Given the description of an element on the screen output the (x, y) to click on. 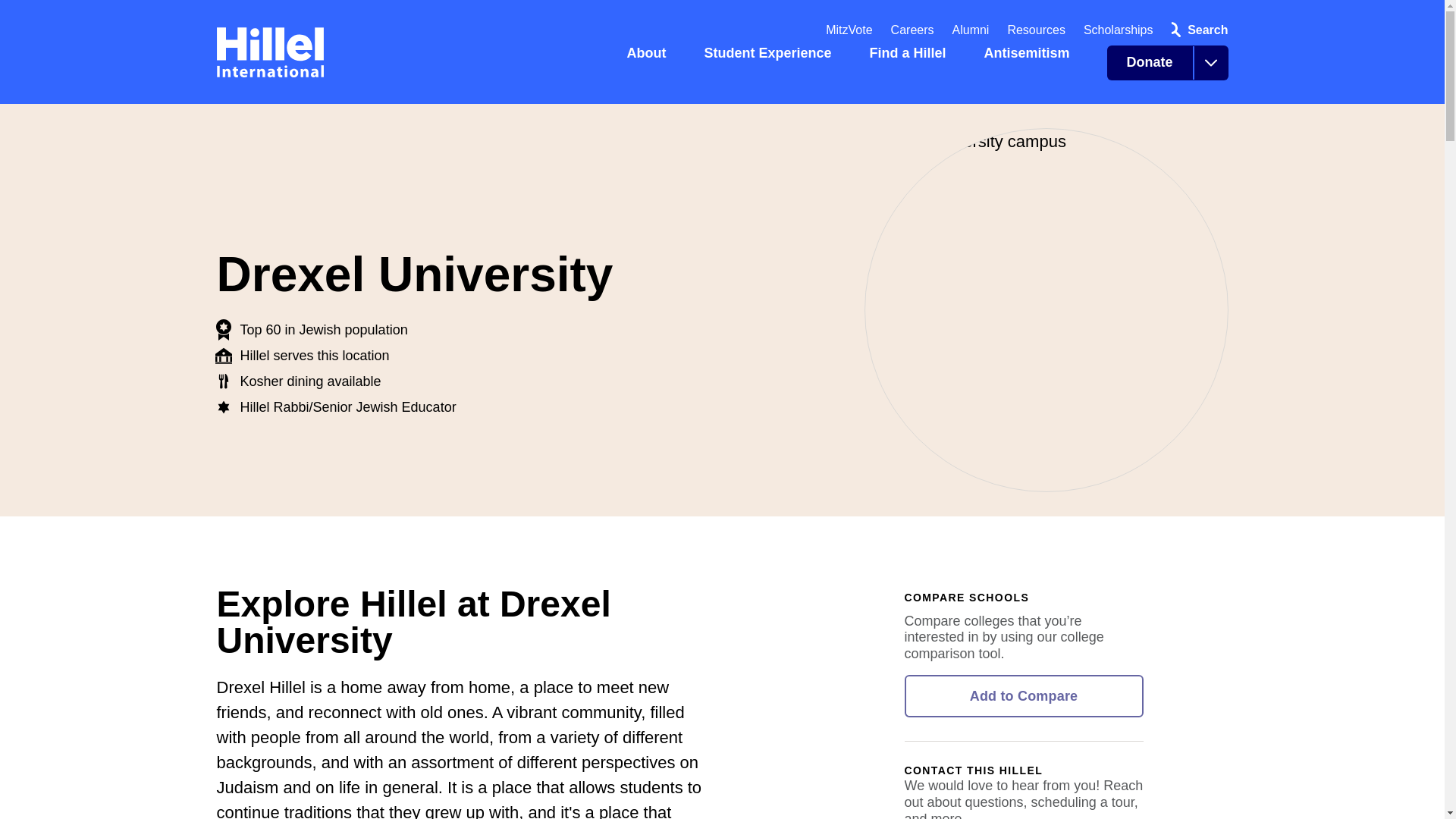
Alumni (971, 29)
Open for more actions (1209, 62)
Find a Hillel (914, 69)
Antisemitism (1033, 69)
Resources (1035, 29)
Search (1195, 30)
Student Experience (773, 69)
Careers (912, 29)
About (652, 69)
